Given the description of an element on the screen output the (x, y) to click on. 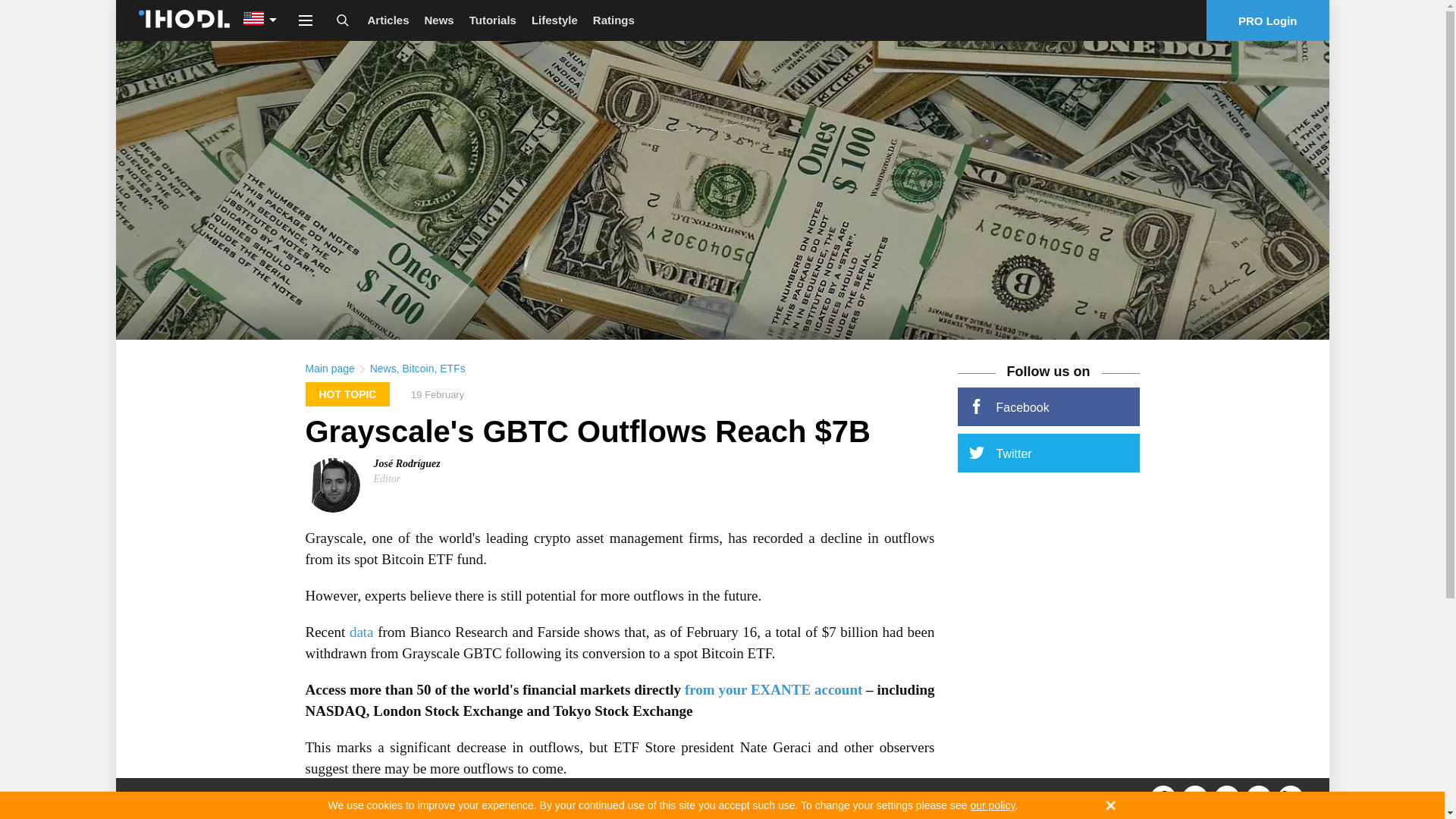
Lifestyle (554, 20)
Editor (386, 478)
Main page (328, 368)
data (361, 631)
our policy (991, 805)
PRO Login (1268, 20)
Tutorials (492, 20)
News (382, 368)
from your EXANTE account (772, 689)
News (438, 20)
Bitcoin (417, 368)
ETFs (451, 368)
Ratings (613, 20)
Articles (387, 20)
